Given the description of an element on the screen output the (x, y) to click on. 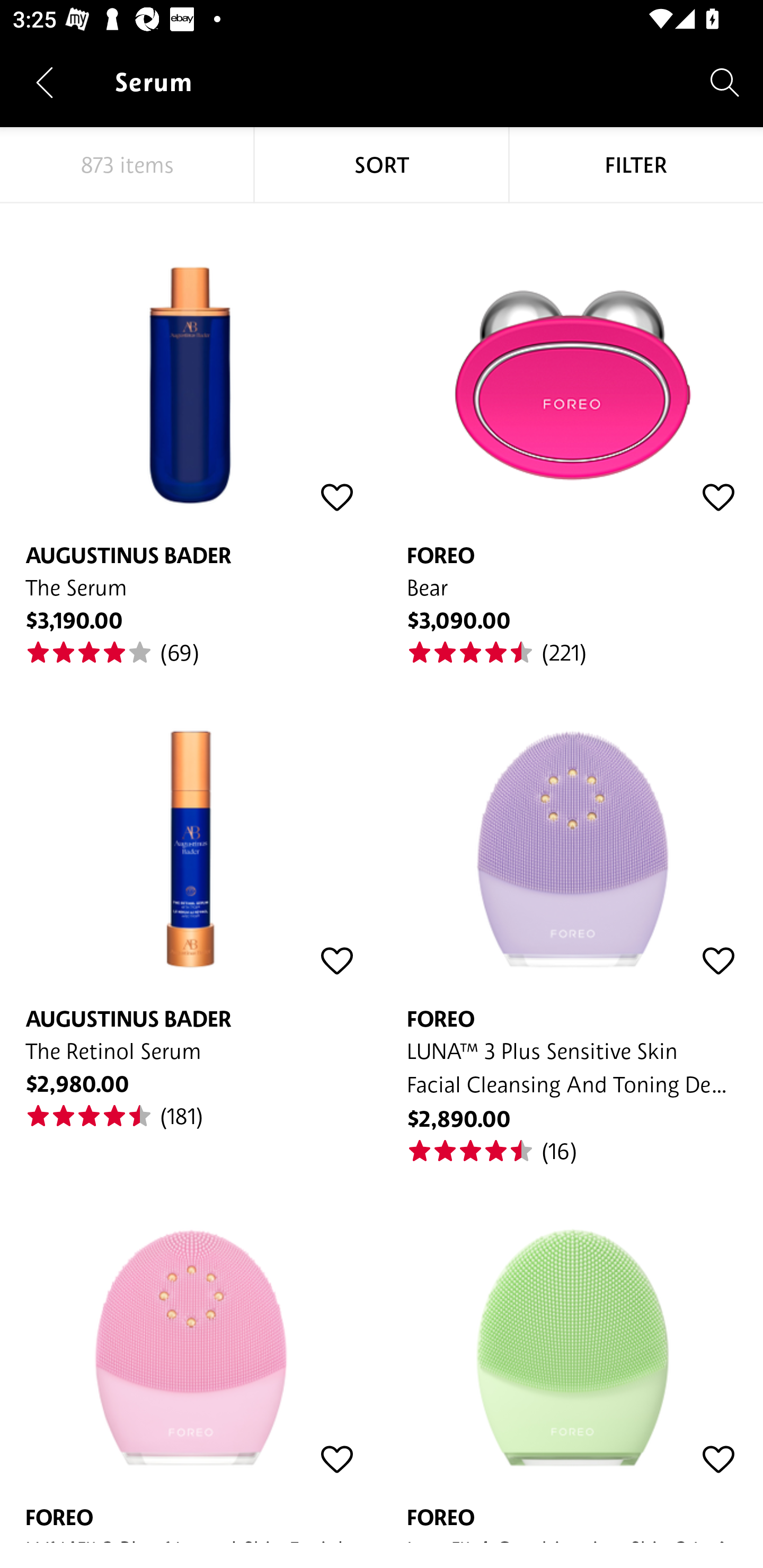
Navigate up (44, 82)
Search (724, 81)
SORT (381, 165)
FILTER (636, 165)
AUGUSTINUS BADER The Serum $3,190.00 (69) (190, 434)
FOREO Bear $3,090.00 (221) (571, 434)
AUGUSTINUS BADER The Retinol Serum $2,980.00 (181) (190, 898)
